Given the description of an element on the screen output the (x, y) to click on. 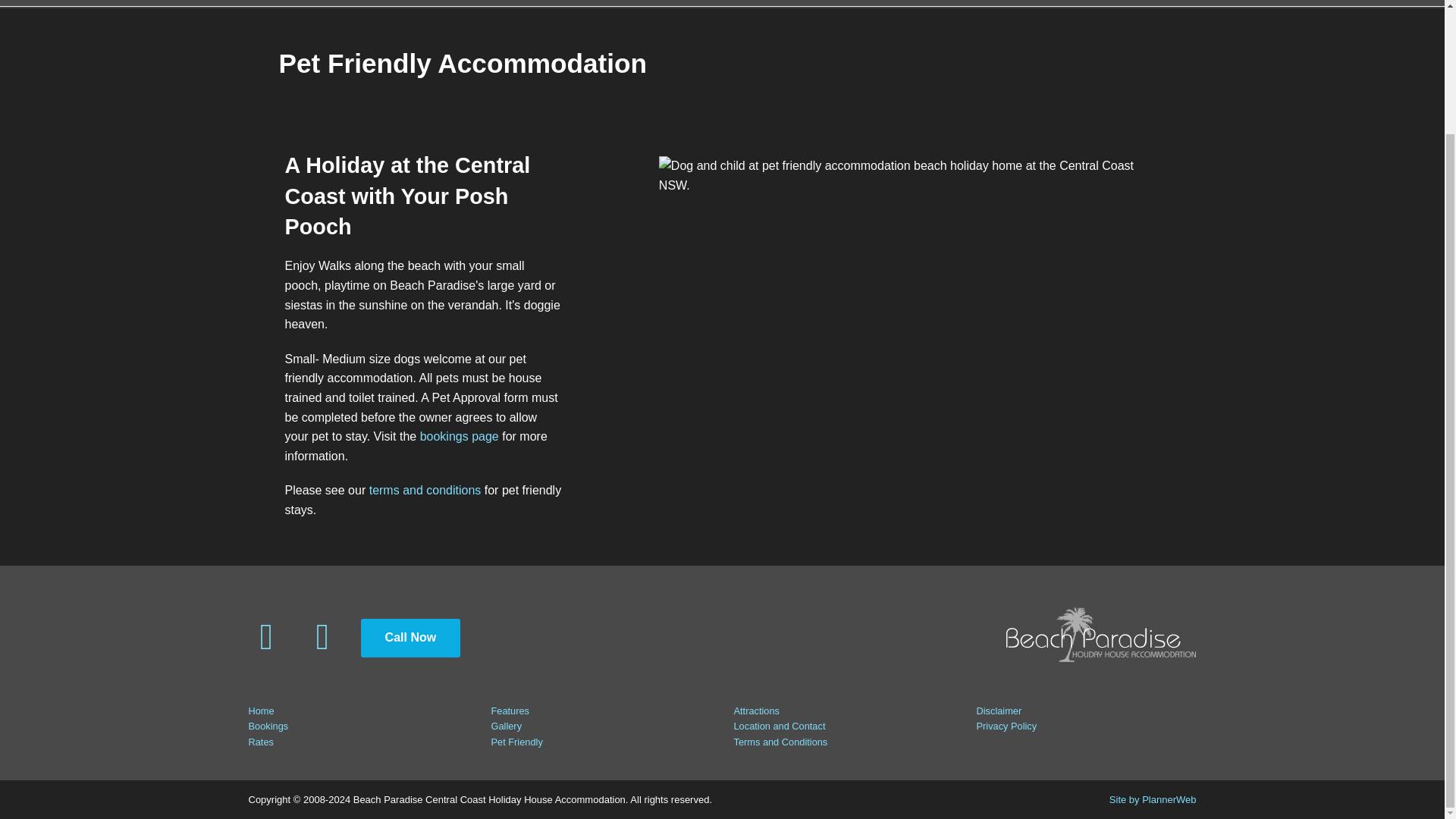
Attractions (915, 3)
Attractions (755, 710)
Features (666, 3)
Pet Friendly (517, 741)
Home (362, 3)
Privacy Policy (1006, 726)
Site by PlannerWeb (1152, 799)
terms and conditions (425, 490)
Rates (260, 741)
Location and Contact (779, 726)
Pet Friendly (821, 3)
Features (510, 710)
Gallery (507, 726)
Rates (598, 3)
Virtual Tour (439, 3)
